Given the description of an element on the screen output the (x, y) to click on. 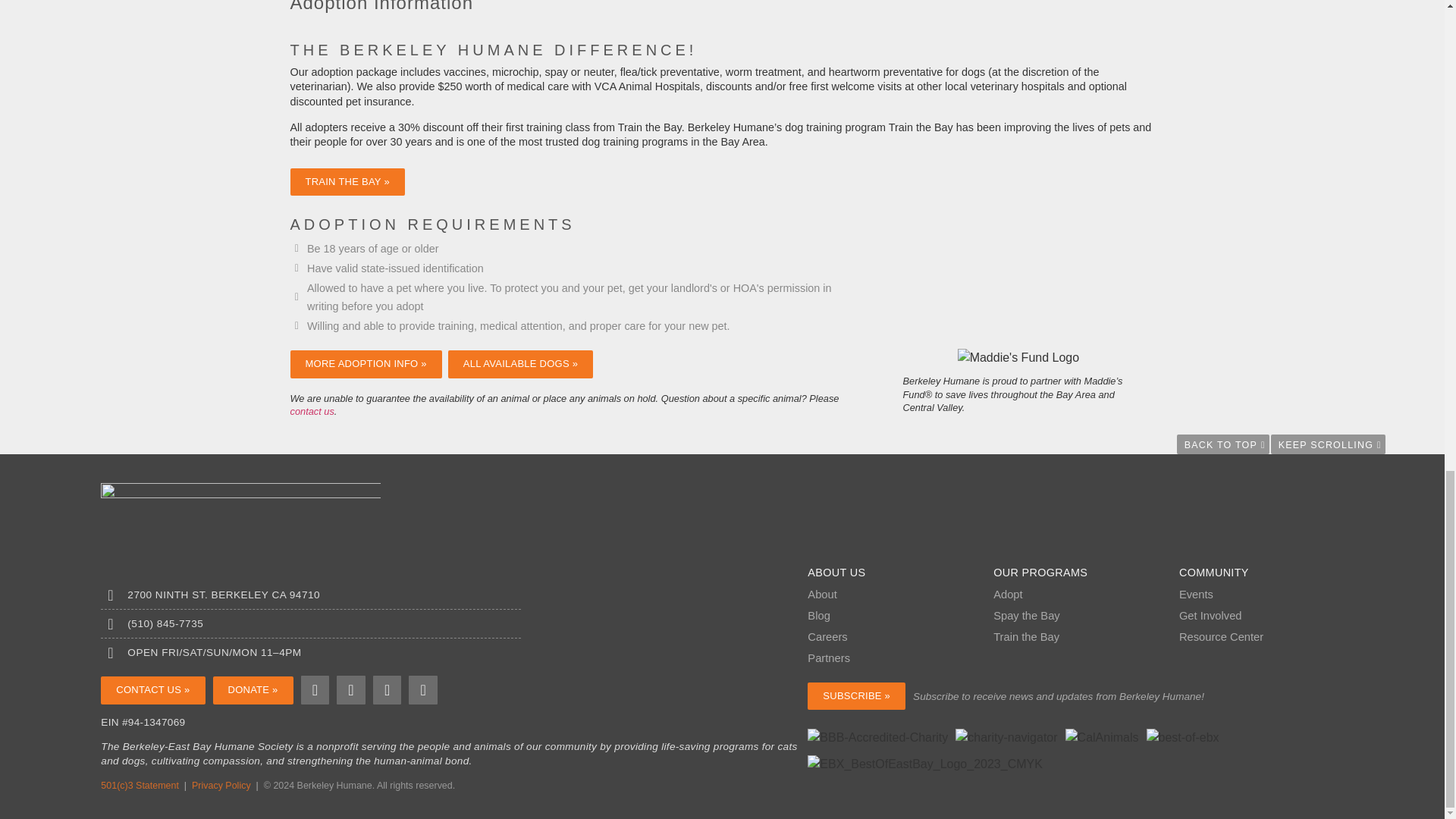
BBB-Accredited-Charity (877, 737)
charity-navigator (1006, 737)
best-of-ebx (1183, 737)
CalAnimals (1101, 737)
